Given the description of an element on the screen output the (x, y) to click on. 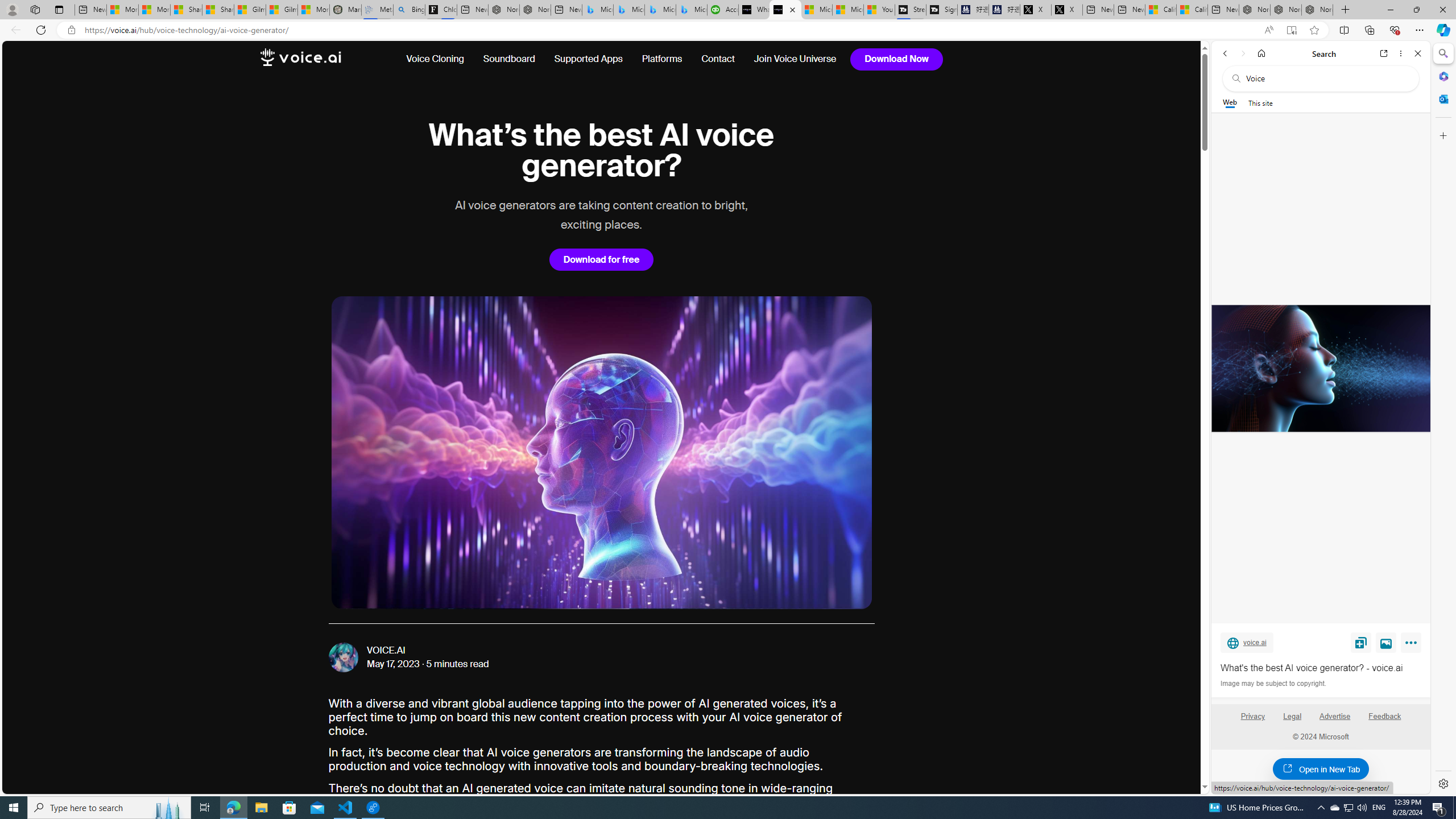
More options (1401, 53)
This site scope (1259, 102)
Read aloud this page (Ctrl+Shift+U) (1268, 29)
Join Voice Universe (790, 59)
Web scope (1230, 102)
Gilma and Hector both pose tropical trouble for Hawaii (281, 9)
Feedback (1384, 720)
Legal (1291, 715)
